Given the description of an element on the screen output the (x, y) to click on. 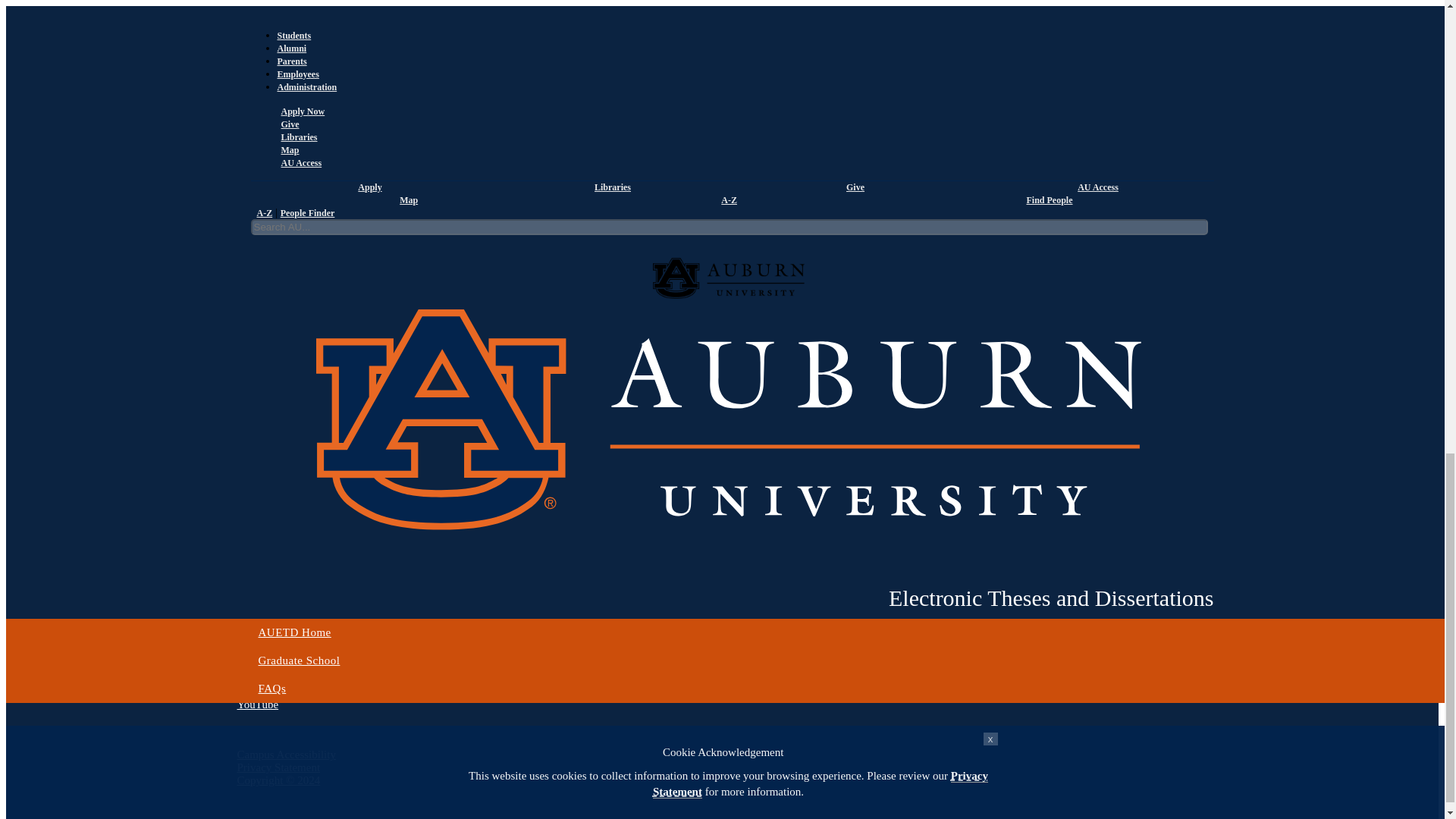
Auburn University Instagram (258, 691)
Auburn University Facebook page (258, 665)
Auburn University YouTube channel (256, 704)
Auburn University Twitter (252, 678)
